Given the description of an element on the screen output the (x, y) to click on. 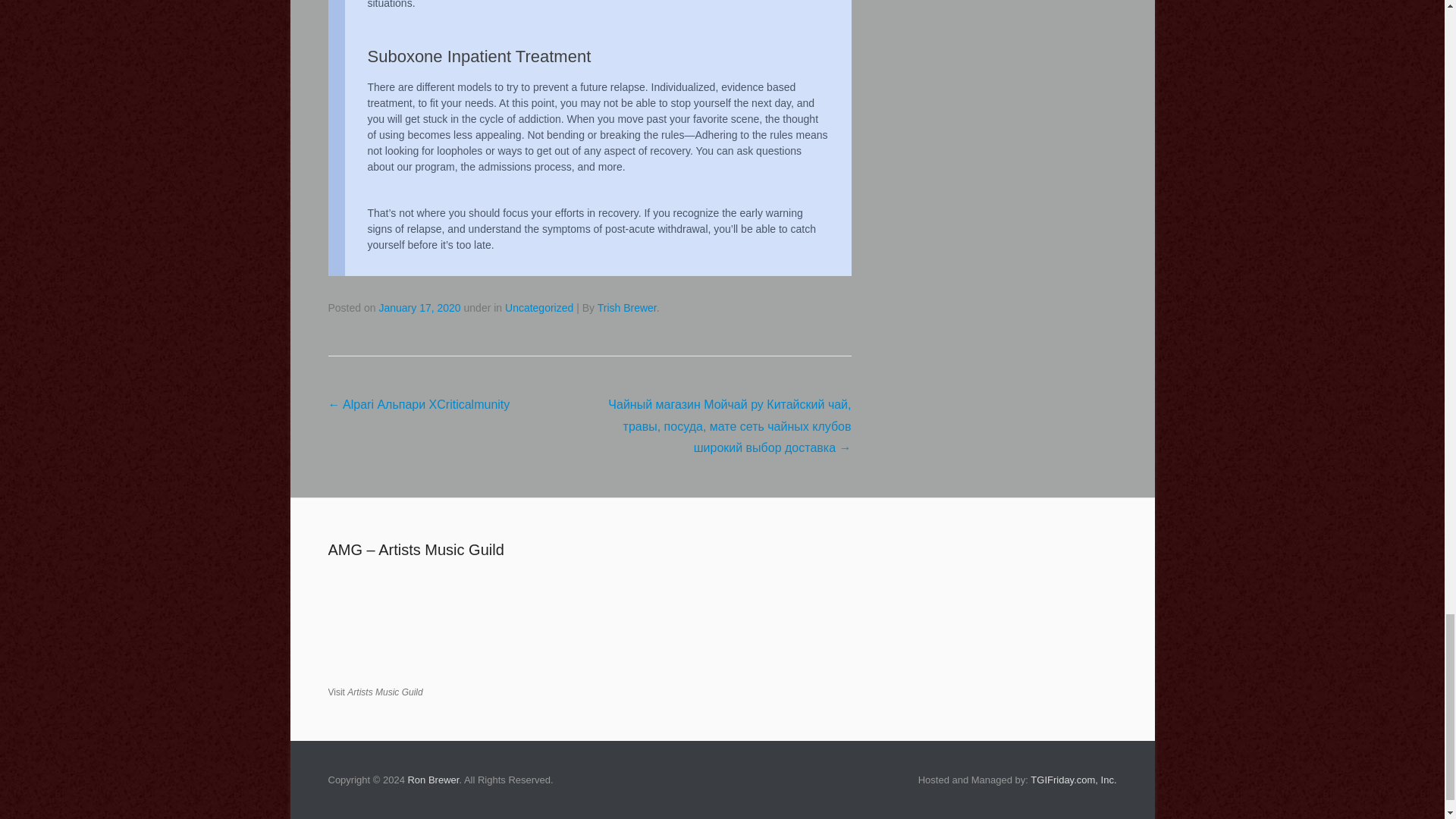
Ron Brewer (432, 779)
TGIFriday.com, Inc. (1073, 779)
Uncategorized (539, 307)
2:02 am (419, 307)
Ron Brewer (432, 779)
January 17, 2020 (419, 307)
Trish Brewer (626, 307)
Visit Artists Music Guild (374, 692)
View all posts by Trish Brewer (626, 307)
